Given the description of an element on the screen output the (x, y) to click on. 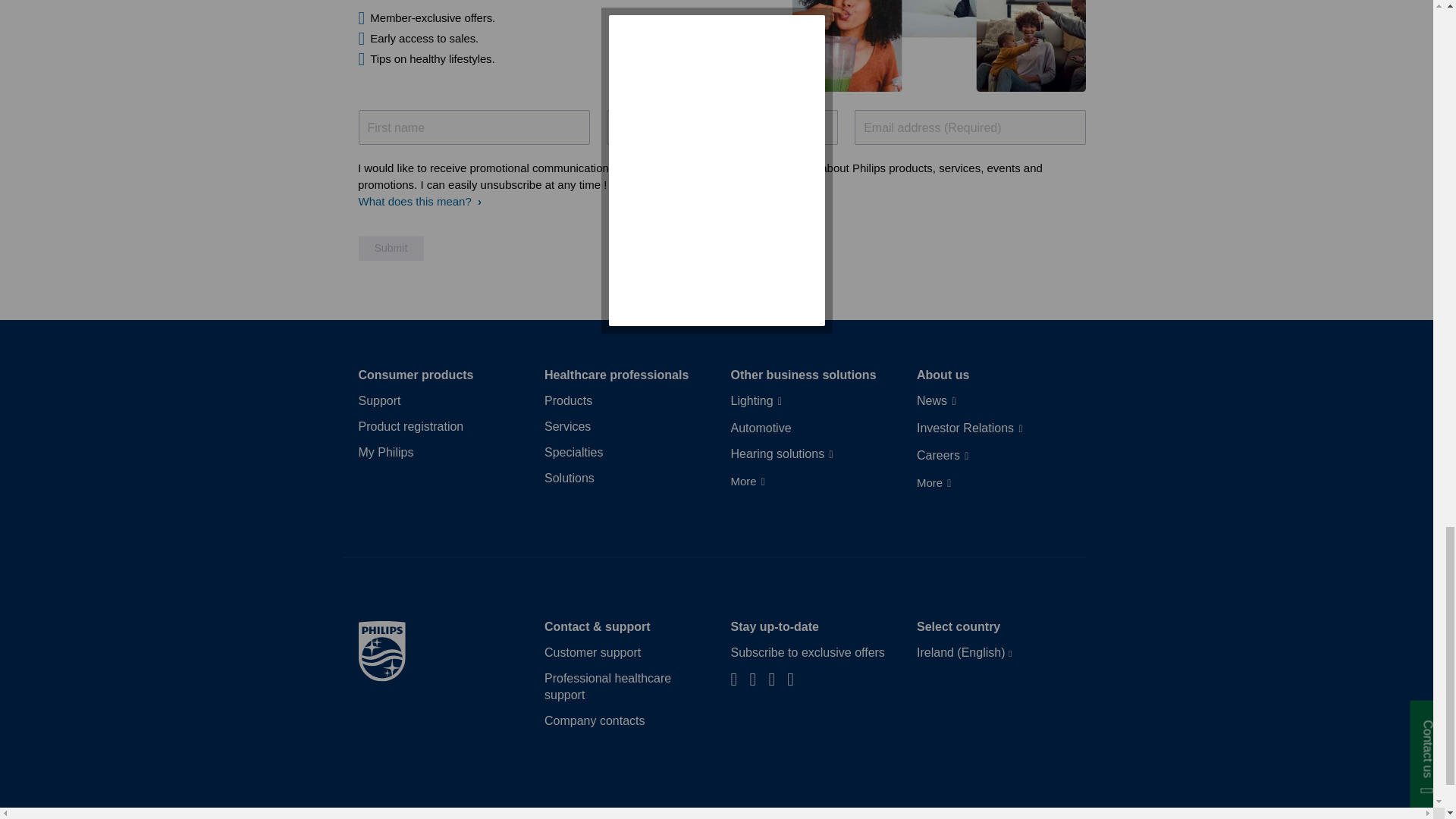
Support (379, 401)
This field is required (970, 126)
Consumer products (415, 375)
Submit (390, 248)
Solutions (569, 478)
Automotive (761, 428)
Services (567, 426)
Specialties (573, 452)
My Philips (385, 452)
Products (568, 401)
Healthcare professionals (616, 375)
Product registration (410, 426)
Last name (722, 126)
First name (473, 126)
